Given the description of an element on the screen output the (x, y) to click on. 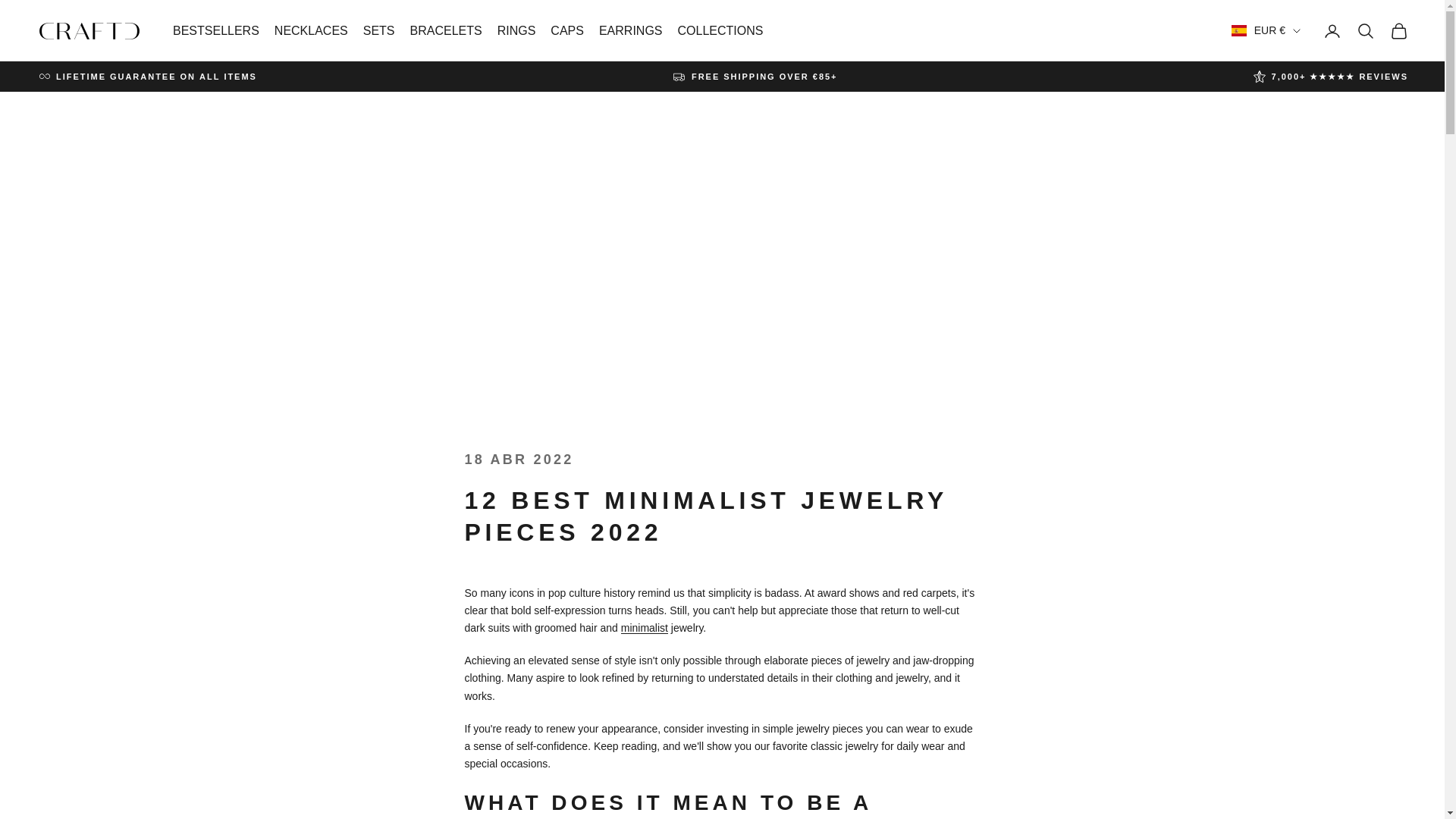
RINGS (516, 30)
EARRINGS (630, 30)
BRACELETS (445, 30)
BESTSELLERS (216, 30)
CAPS (566, 30)
CRAFTD (89, 30)
SETS (378, 30)
